Given the description of an element on the screen output the (x, y) to click on. 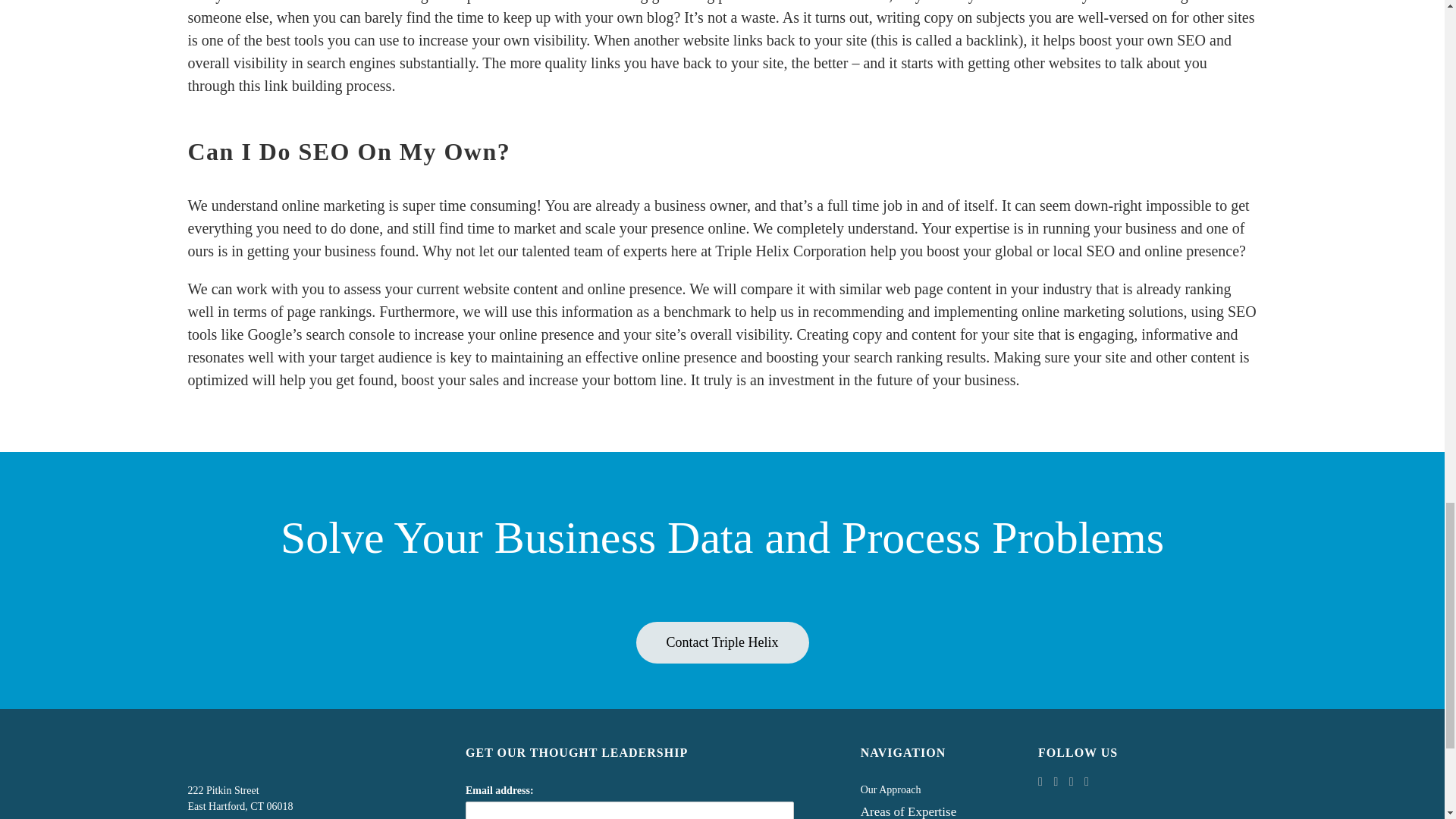
Areas of Expertise (919, 810)
Our Approach (919, 792)
Contact Triple Helix (721, 642)
